Given the description of an element on the screen output the (x, y) to click on. 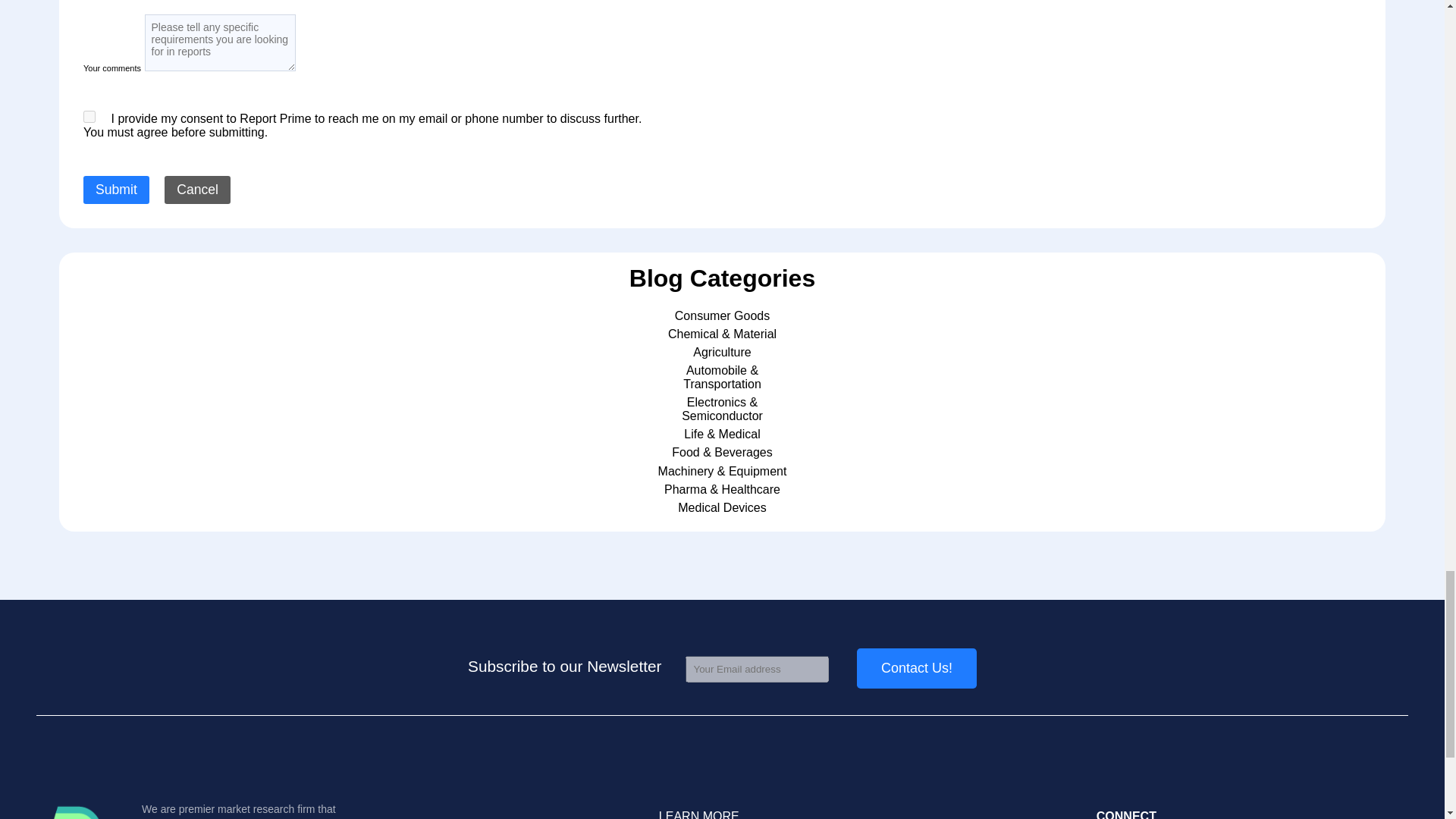
Agriculture (722, 351)
Consumer Goods (722, 315)
Cancel (197, 189)
Submit (115, 189)
